Given the description of an element on the screen output the (x, y) to click on. 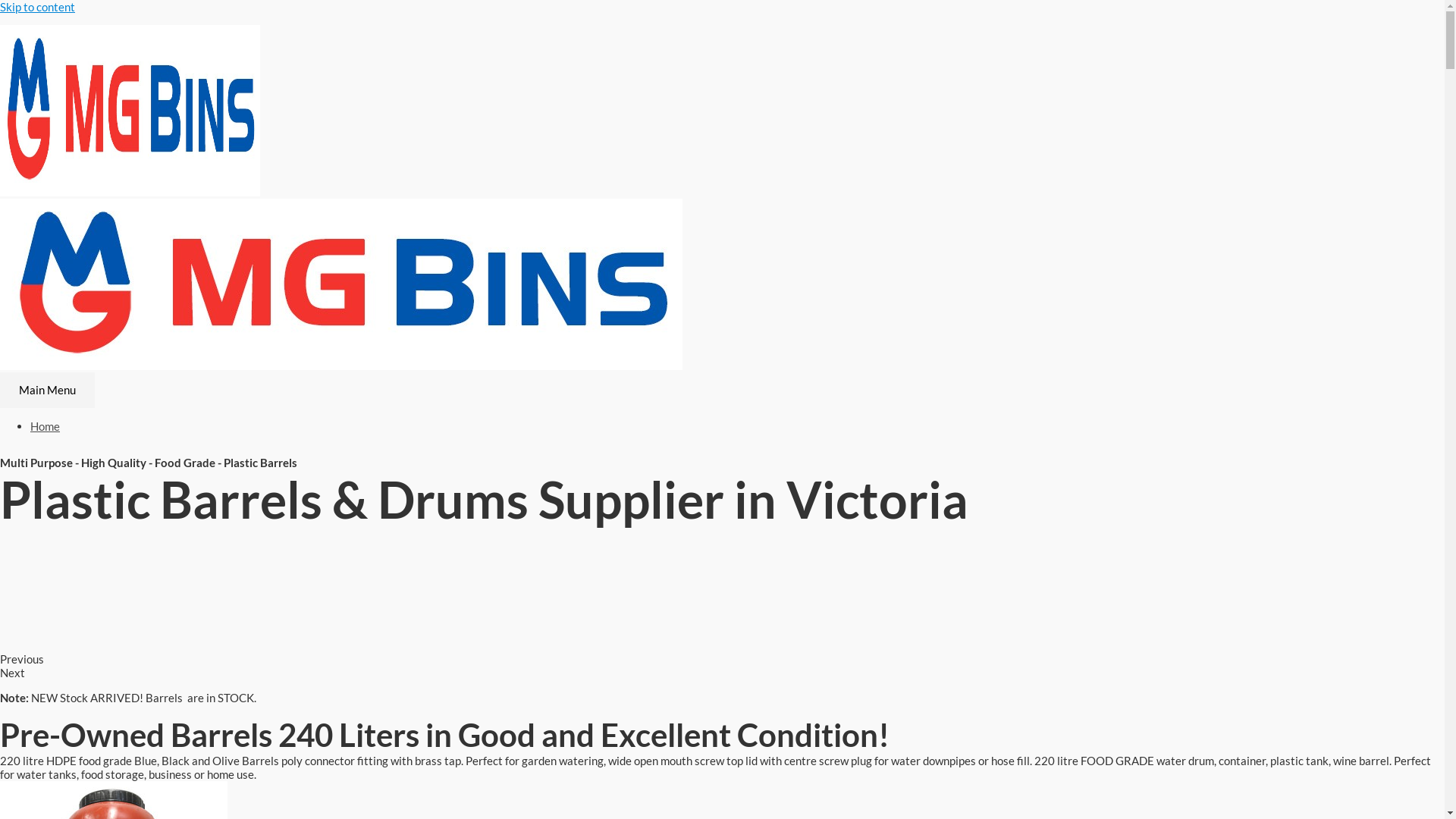
Skip to content Element type: text (37, 6)
Home Element type: text (44, 426)
Main Menu Element type: text (47, 389)
